Given the description of an element on the screen output the (x, y) to click on. 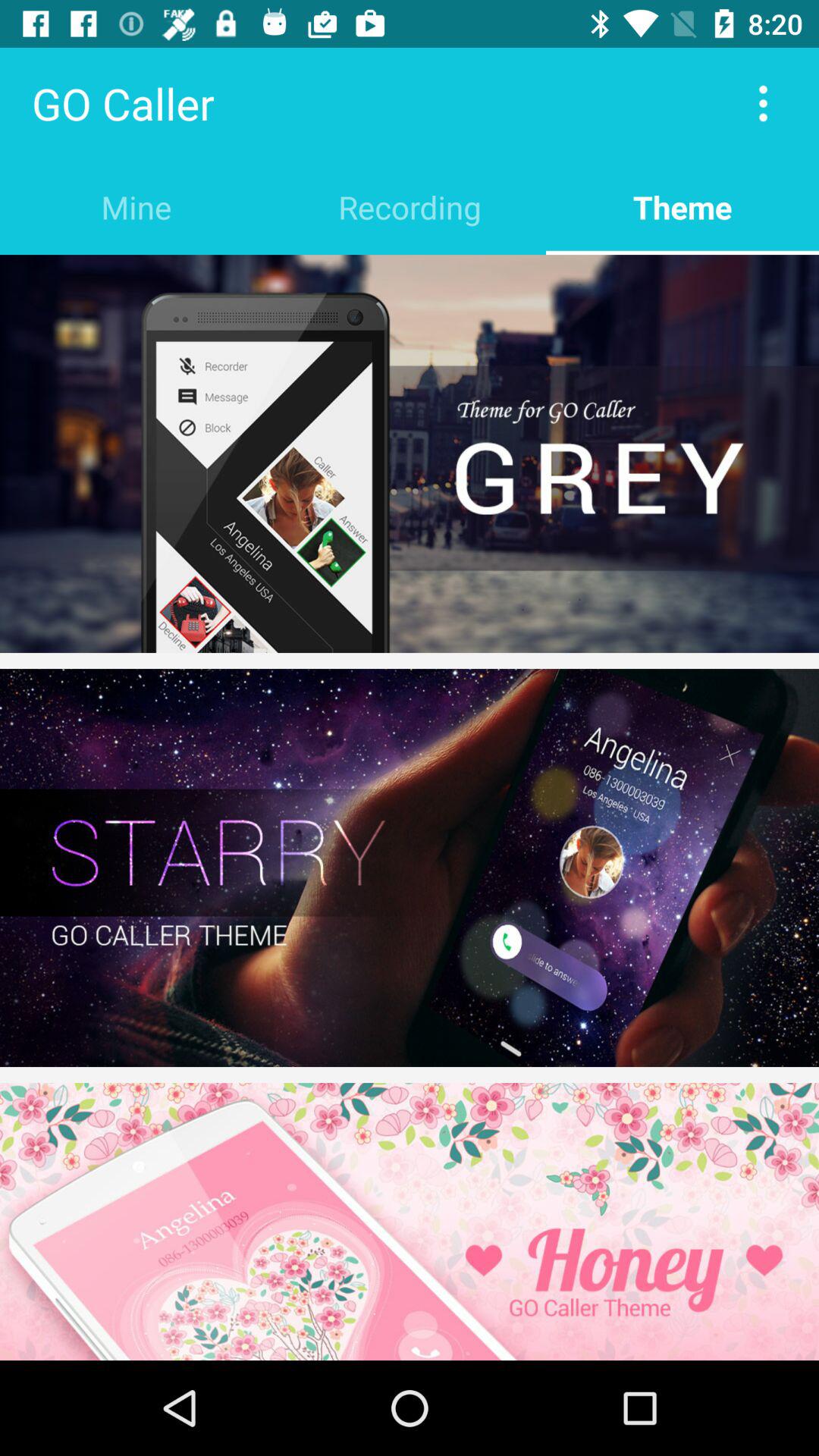
tap item next to the theme icon (409, 206)
